Given the description of an element on the screen output the (x, y) to click on. 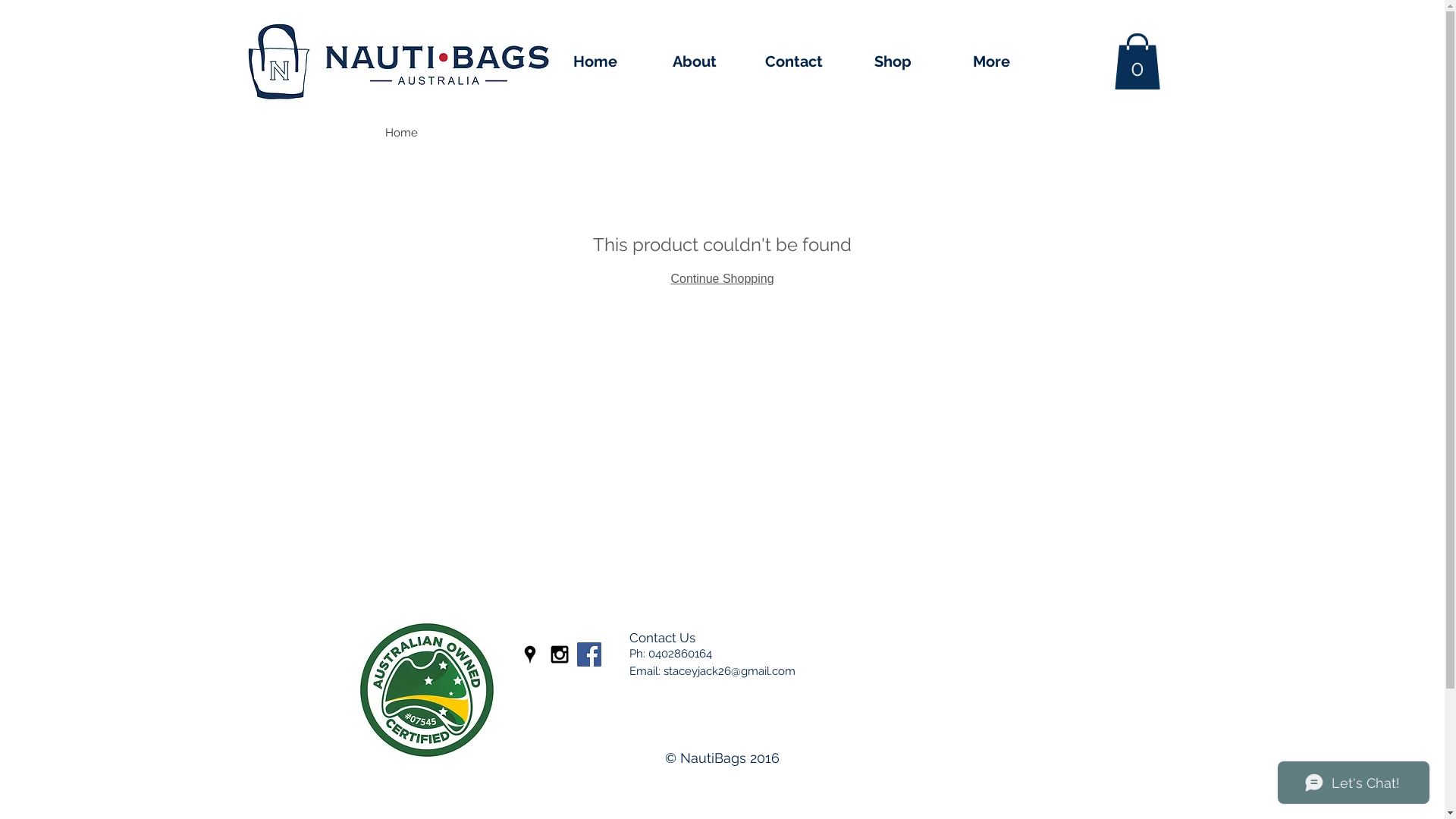
About Element type: text (693, 61)
Home Element type: text (595, 61)
staceyjack26@gmail.com Element type: text (728, 670)
Contact Element type: text (794, 61)
Shop Element type: text (892, 61)
Home Element type: text (401, 132)
Continue Shopping Element type: text (721, 278)
0 Element type: text (1136, 61)
